Given the description of an element on the screen output the (x, y) to click on. 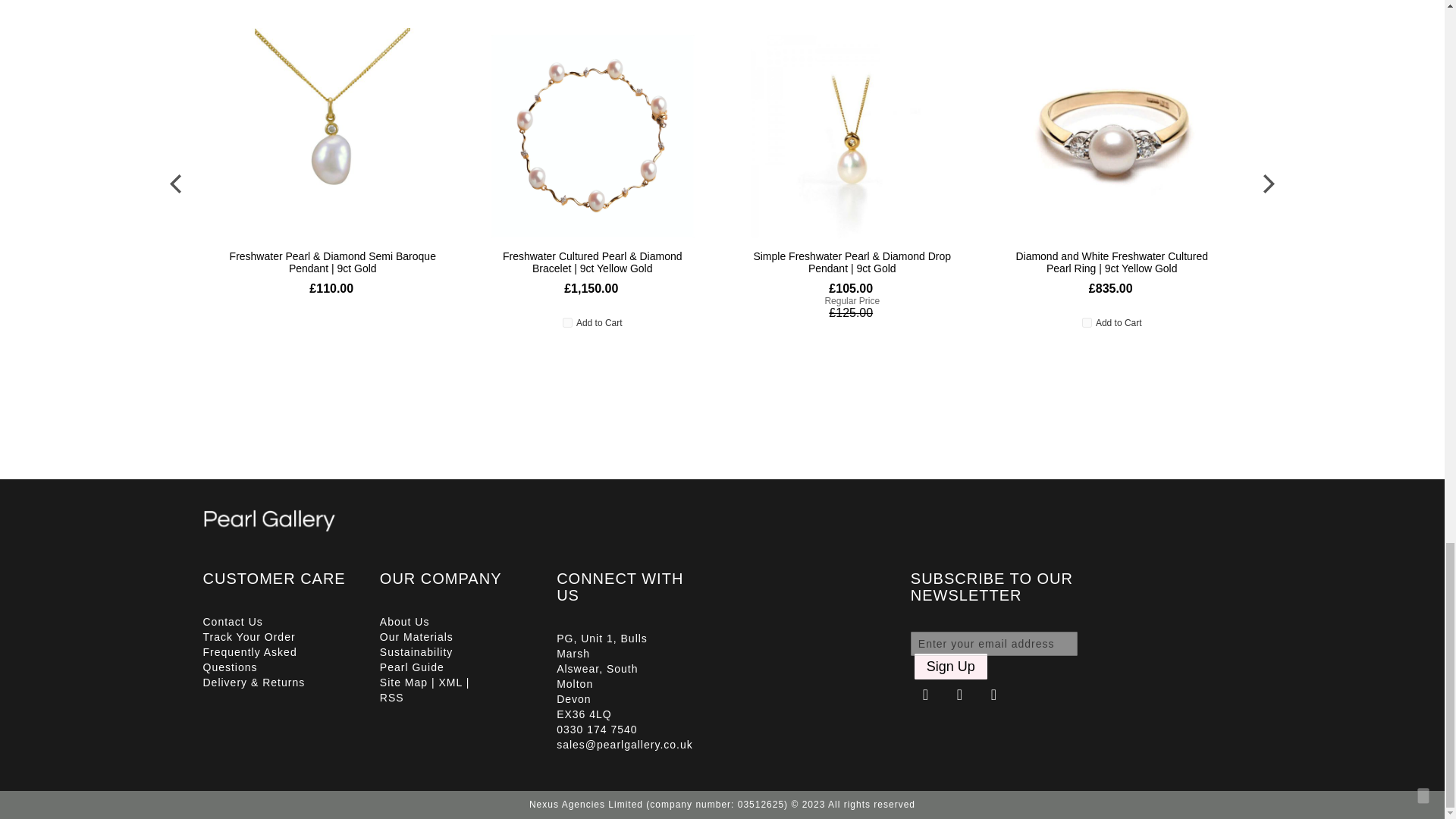
394 (1086, 322)
313 (567, 322)
